Given the description of an element on the screen output the (x, y) to click on. 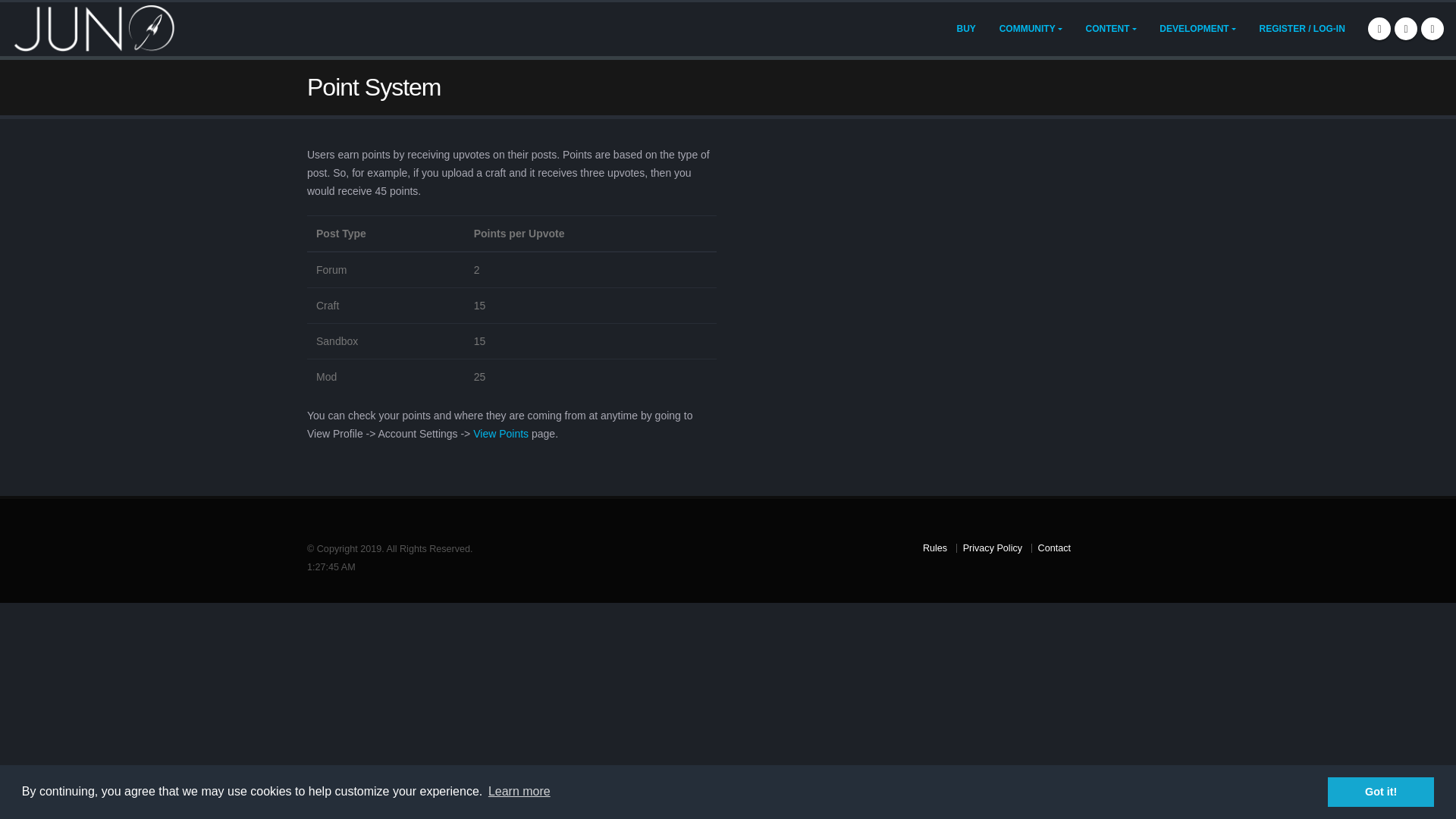
Twitter (1405, 27)
COMMUNITY (1030, 28)
View Points (500, 433)
What is happening to the logo... (93, 29)
BUY (965, 28)
Rules (935, 547)
CONTENT (1110, 28)
Instagram (1379, 27)
DEVELOPMENT (1197, 28)
Contact (1054, 547)
Privacy Policy (992, 547)
YouTube (1432, 27)
